Given the description of an element on the screen output the (x, y) to click on. 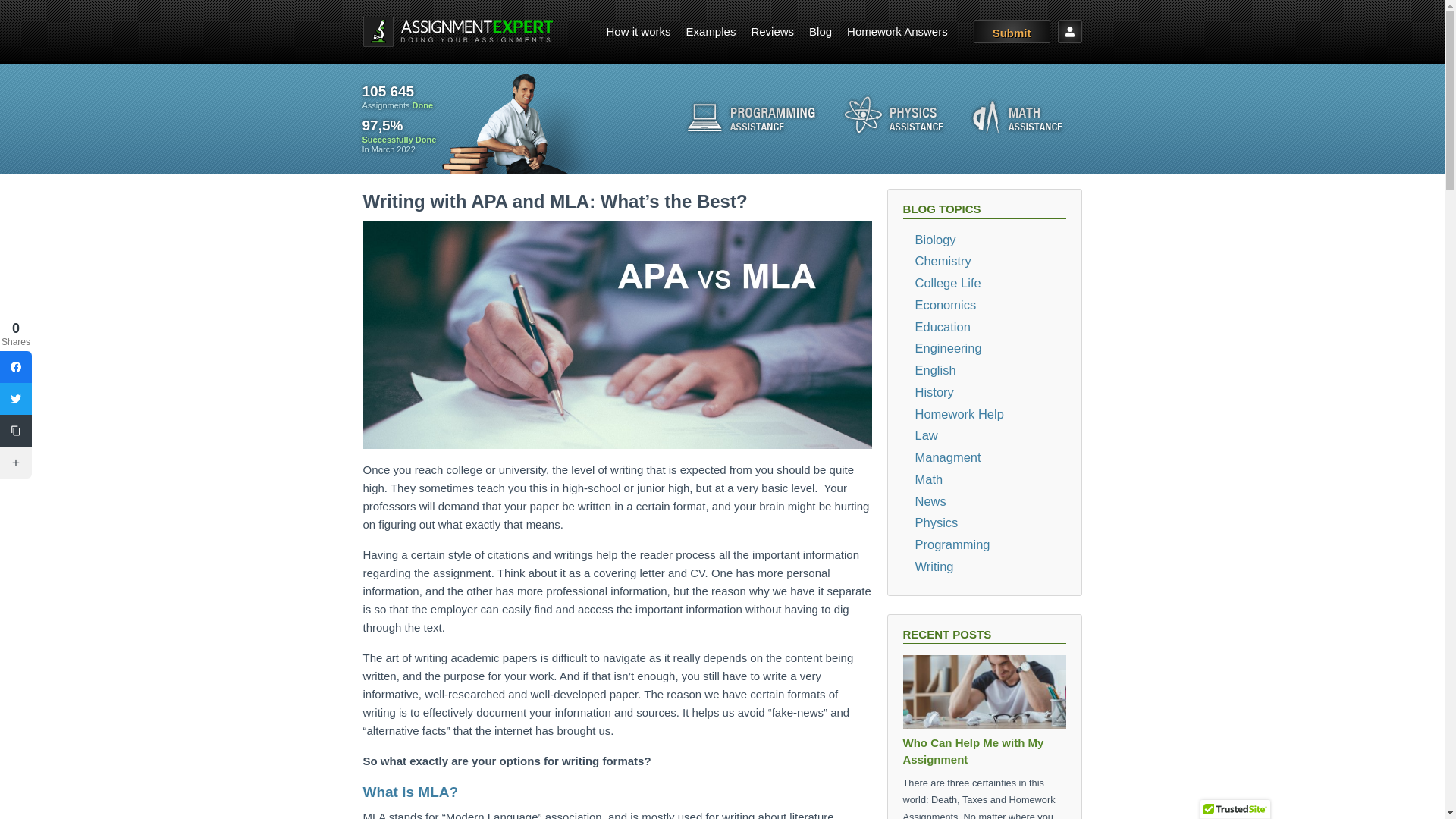
Homework Answers (897, 31)
Blog (820, 31)
Examples (710, 31)
Reviews (772, 31)
How it works (639, 31)
Since 2009 (399, 97)
Programming help (751, 116)
My account (1069, 31)
Math help (1017, 117)
Physics help (893, 117)
Submit (1011, 31)
